Given the description of an element on the screen output the (x, y) to click on. 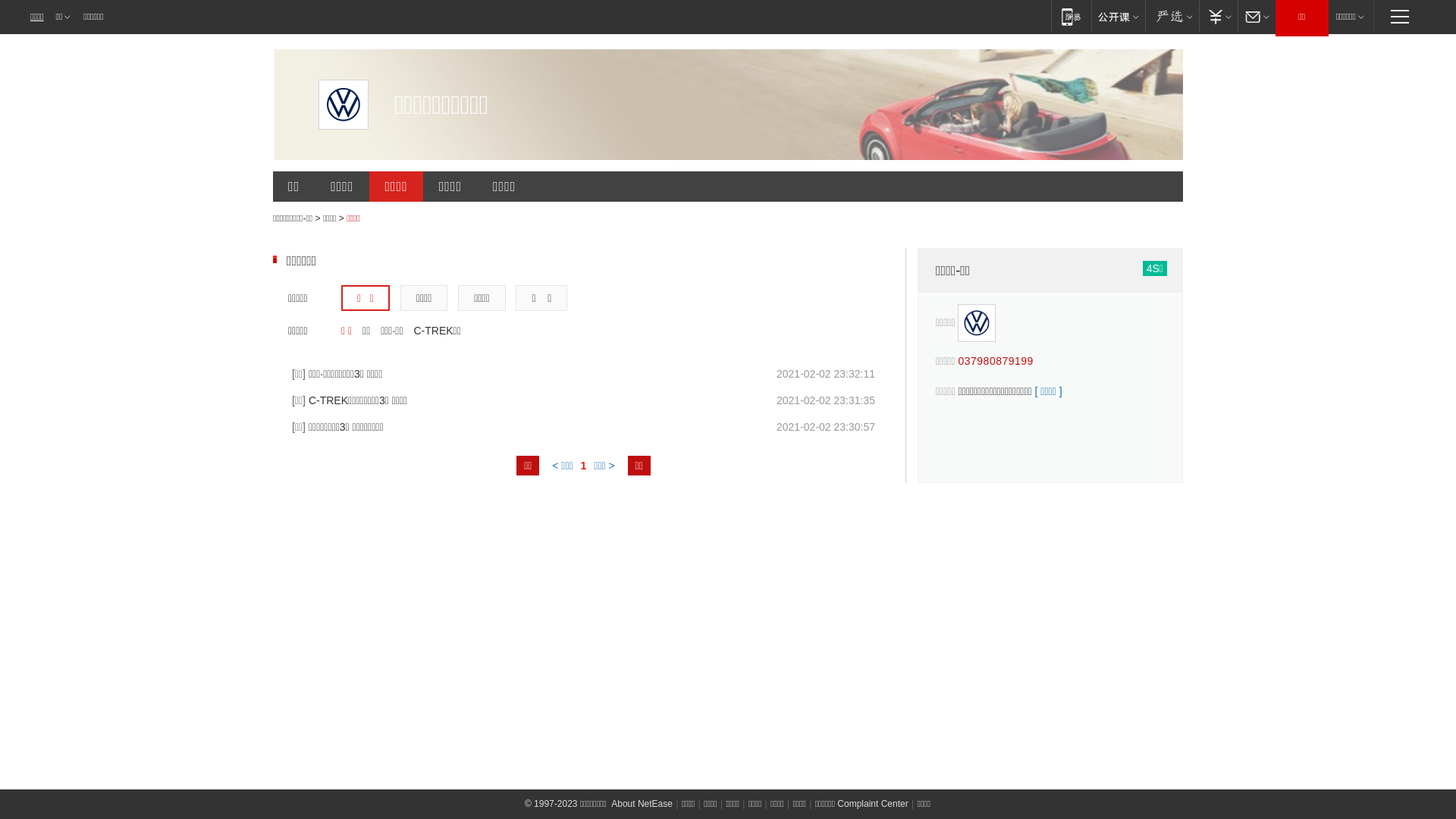
1 Element type: text (583, 465)
About NetEase Element type: text (641, 803)
